Given the description of an element on the screen output the (x, y) to click on. 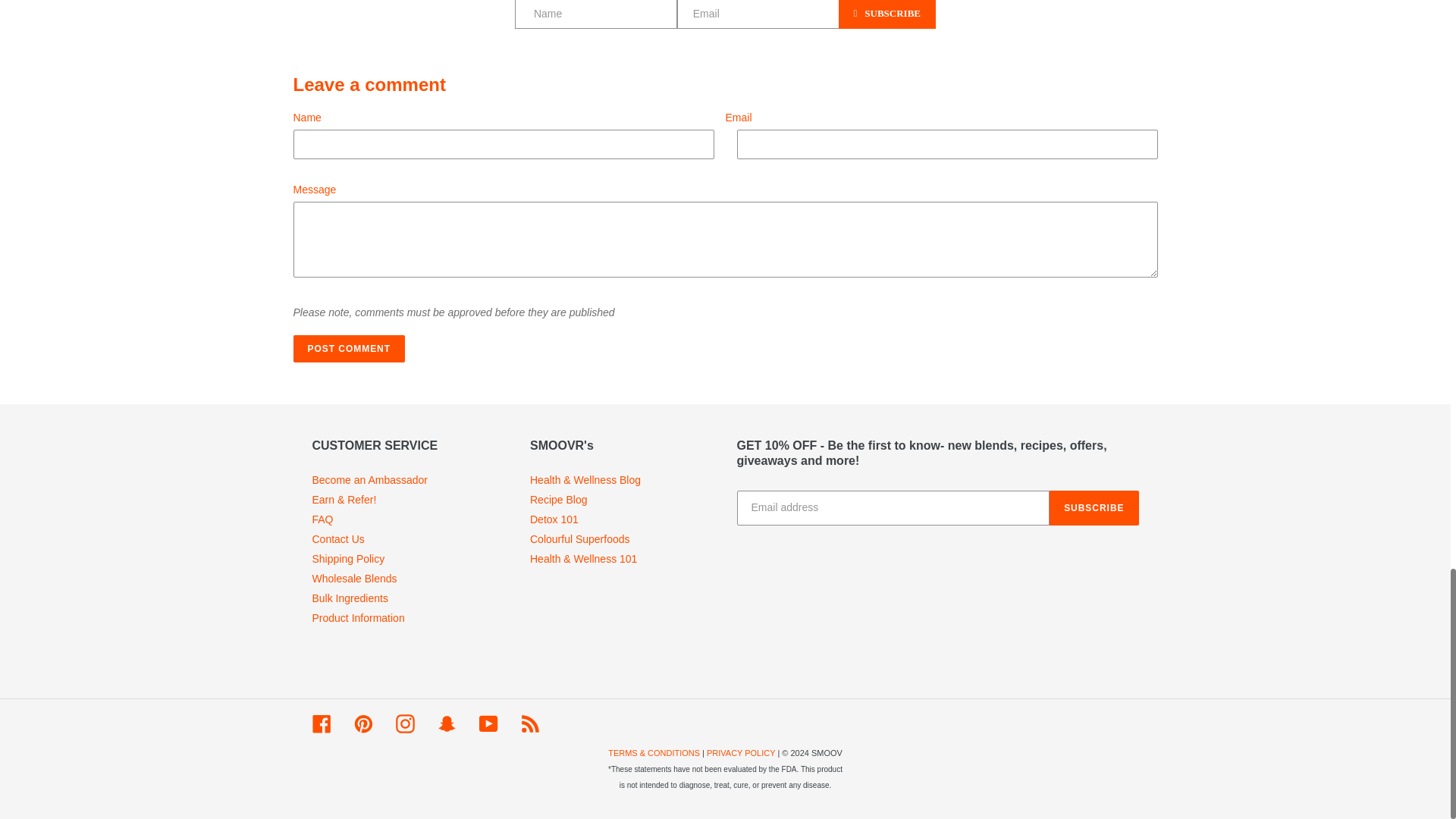
Post comment (348, 348)
